Given the description of an element on the screen output the (x, y) to click on. 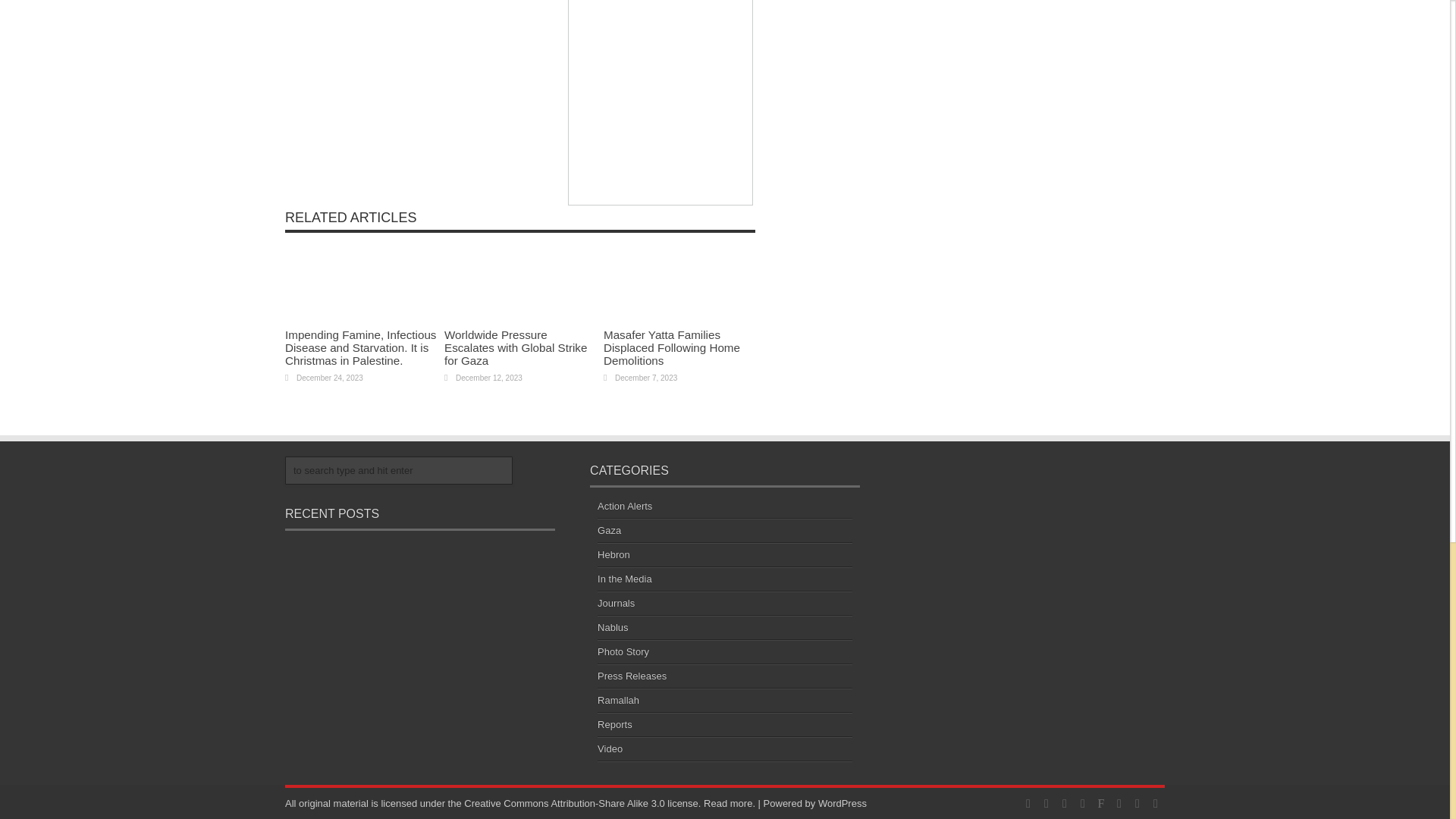
Worldwide Pressure Escalates with Global Strike for Gaza (515, 347)
to search type and hit enter (398, 469)
Masafer Yatta Families Displaced Following Home Demolitions (671, 347)
